Given the description of an element on the screen output the (x, y) to click on. 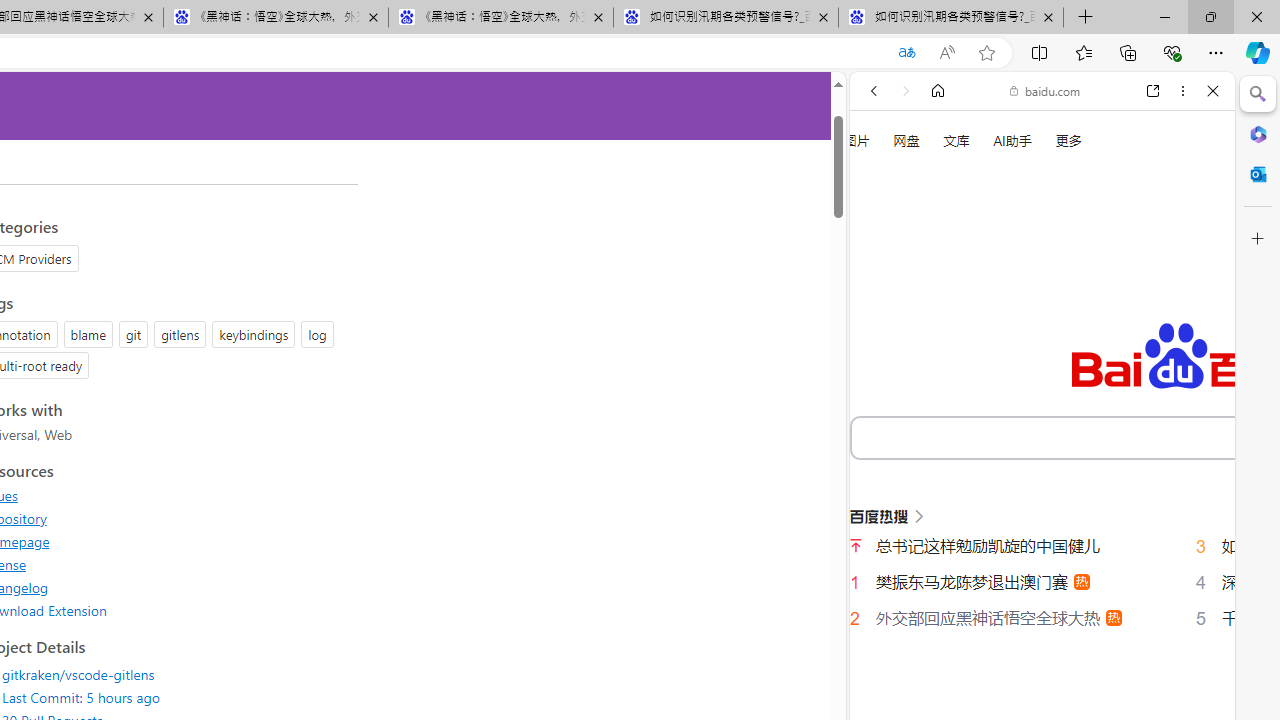
OF | English meaning - Cambridge Dictionary (1034, 419)
